Given the description of an element on the screen output the (x, y) to click on. 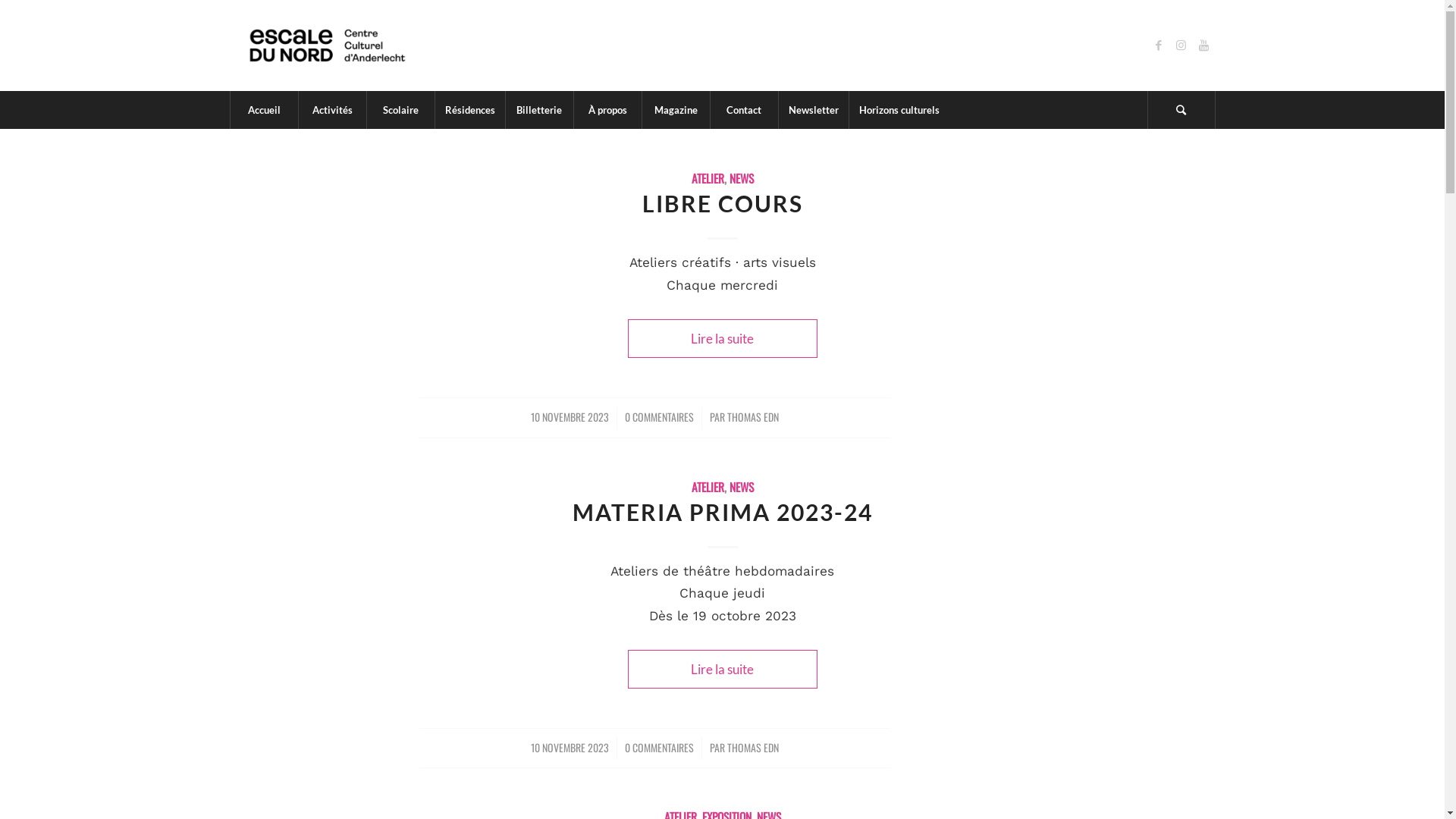
Accueil Element type: text (263, 109)
Newsletter Element type: text (813, 109)
Lire la suite Element type: text (722, 668)
Contact Element type: text (743, 109)
Instagram Element type: hover (1180, 45)
Lire la suite Element type: text (722, 338)
LIBRE COURS Element type: text (721, 202)
NEWS Element type: text (741, 177)
ATELIER Element type: text (707, 486)
THOMAS EDN Element type: text (752, 416)
Facebook Element type: hover (1157, 45)
Billetterie Element type: text (539, 109)
Youtube Element type: hover (1203, 45)
0 COMMENTAIRES Element type: text (658, 416)
MATERIA PRIMA 2023-24 Element type: text (721, 511)
Scolaire Element type: text (399, 109)
Horizons culturels Element type: text (897, 109)
THOMAS EDN Element type: text (752, 747)
ATELIER Element type: text (707, 177)
NEWS Element type: text (741, 486)
0 COMMENTAIRES Element type: text (658, 747)
Magazine Element type: text (675, 109)
